Given the description of an element on the screen output the (x, y) to click on. 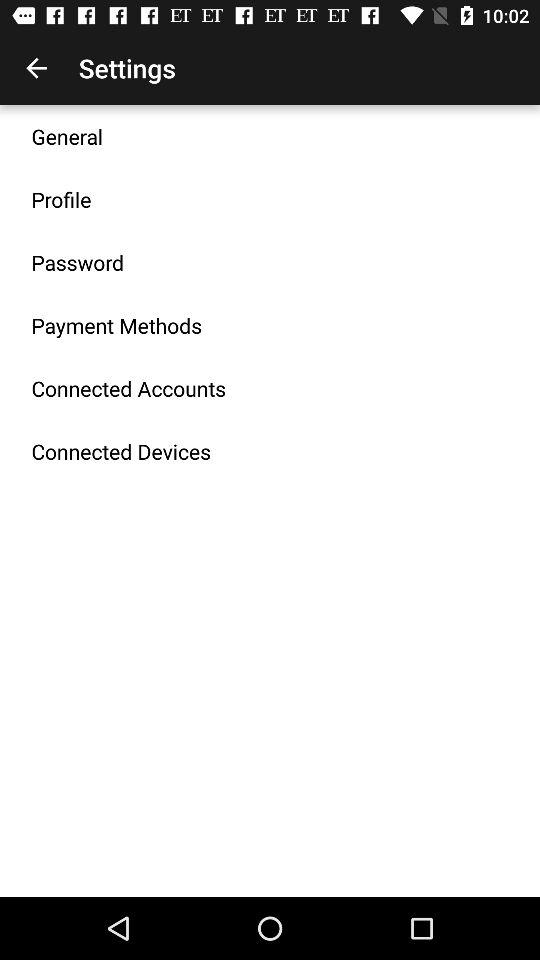
select the icon next to the settings icon (36, 68)
